Given the description of an element on the screen output the (x, y) to click on. 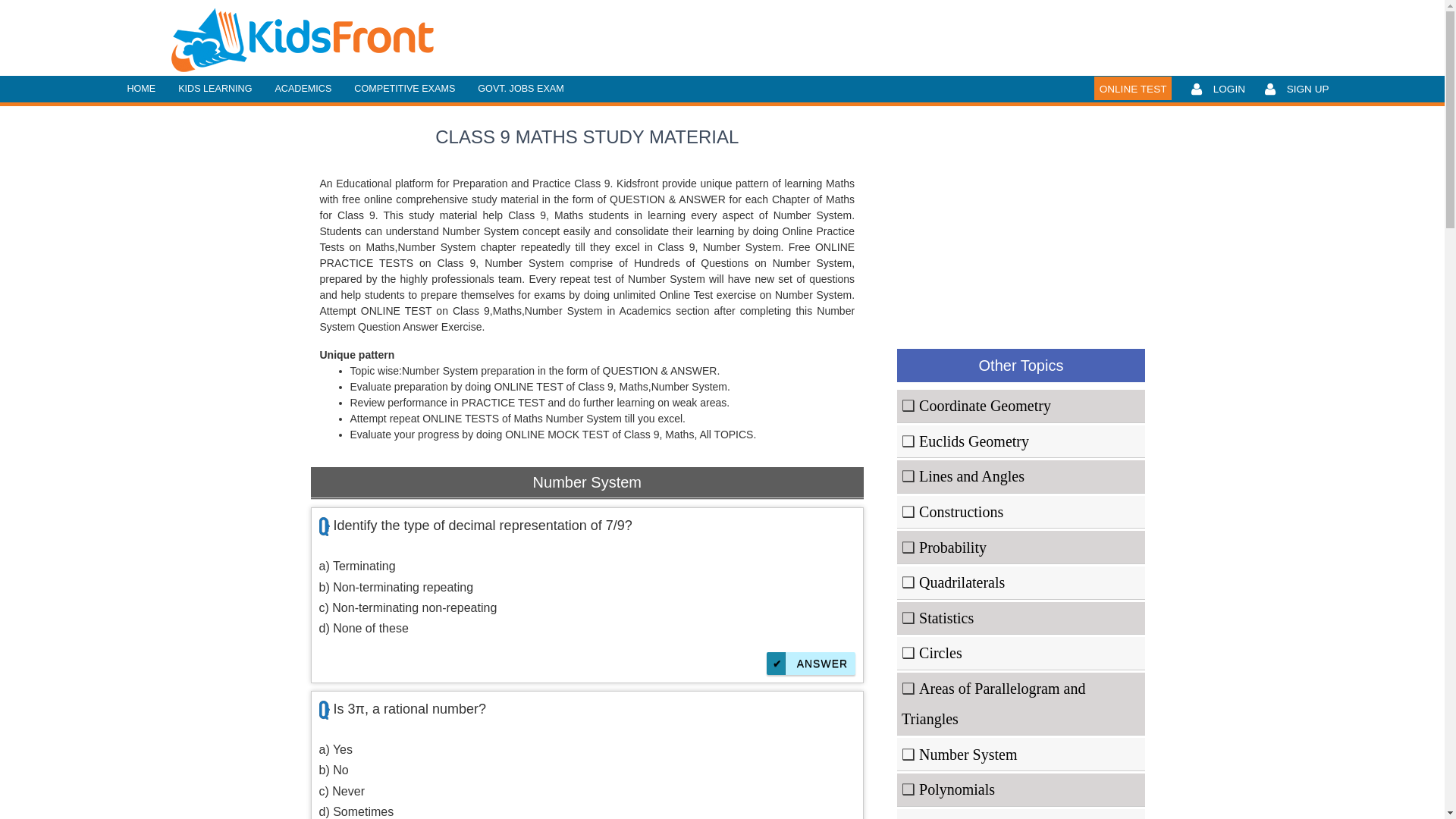
HOME (141, 89)
KIDS LEARNING (215, 89)
Advertisement (1020, 221)
